Given the description of an element on the screen output the (x, y) to click on. 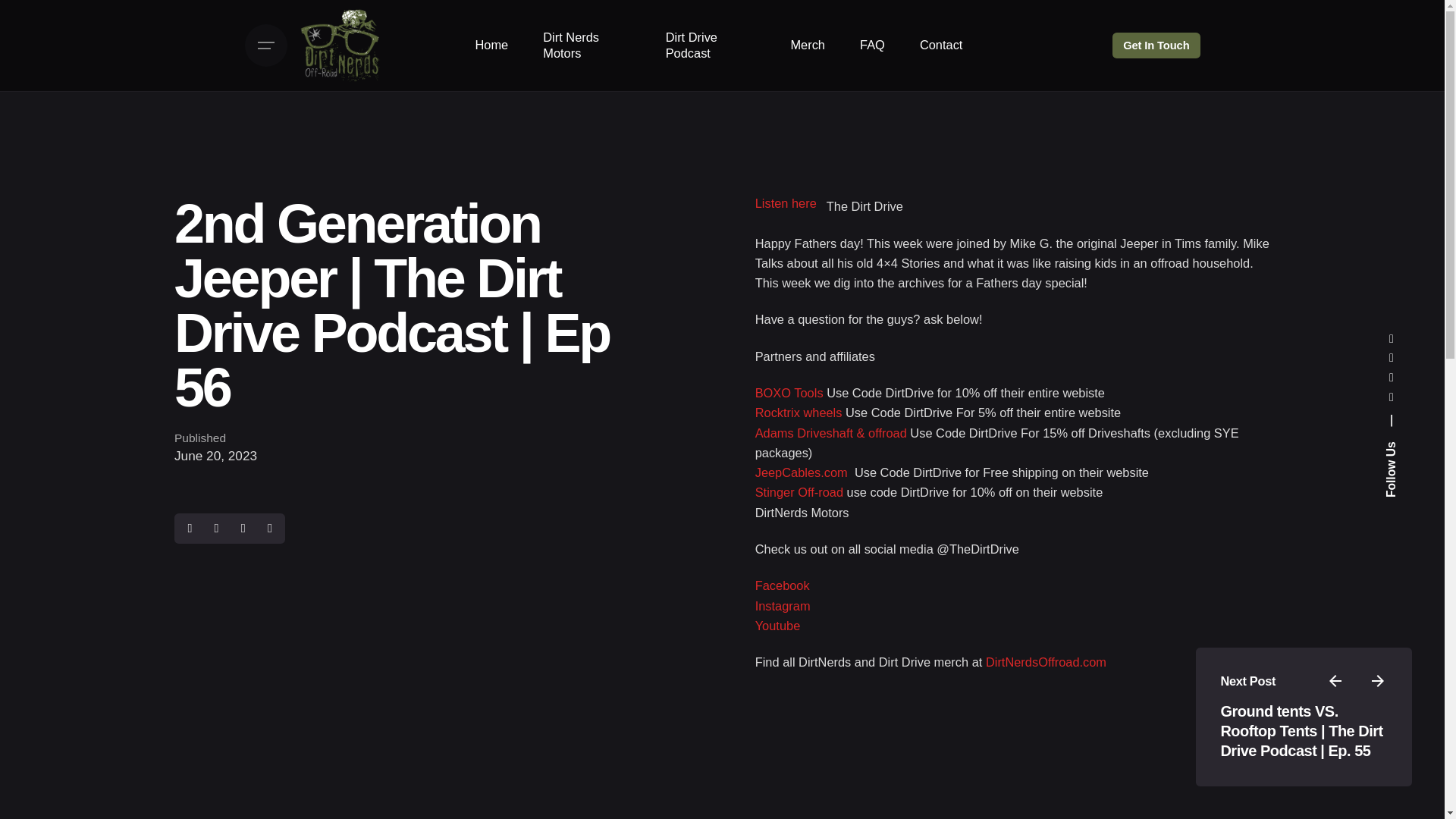
Merch (808, 45)
Dirt Nerds Motors (586, 45)
Dirt Drive Podcast (710, 45)
Contact (940, 45)
Get In Touch (1155, 45)
Home (491, 45)
FAQ (872, 45)
